Given the description of an element on the screen output the (x, y) to click on. 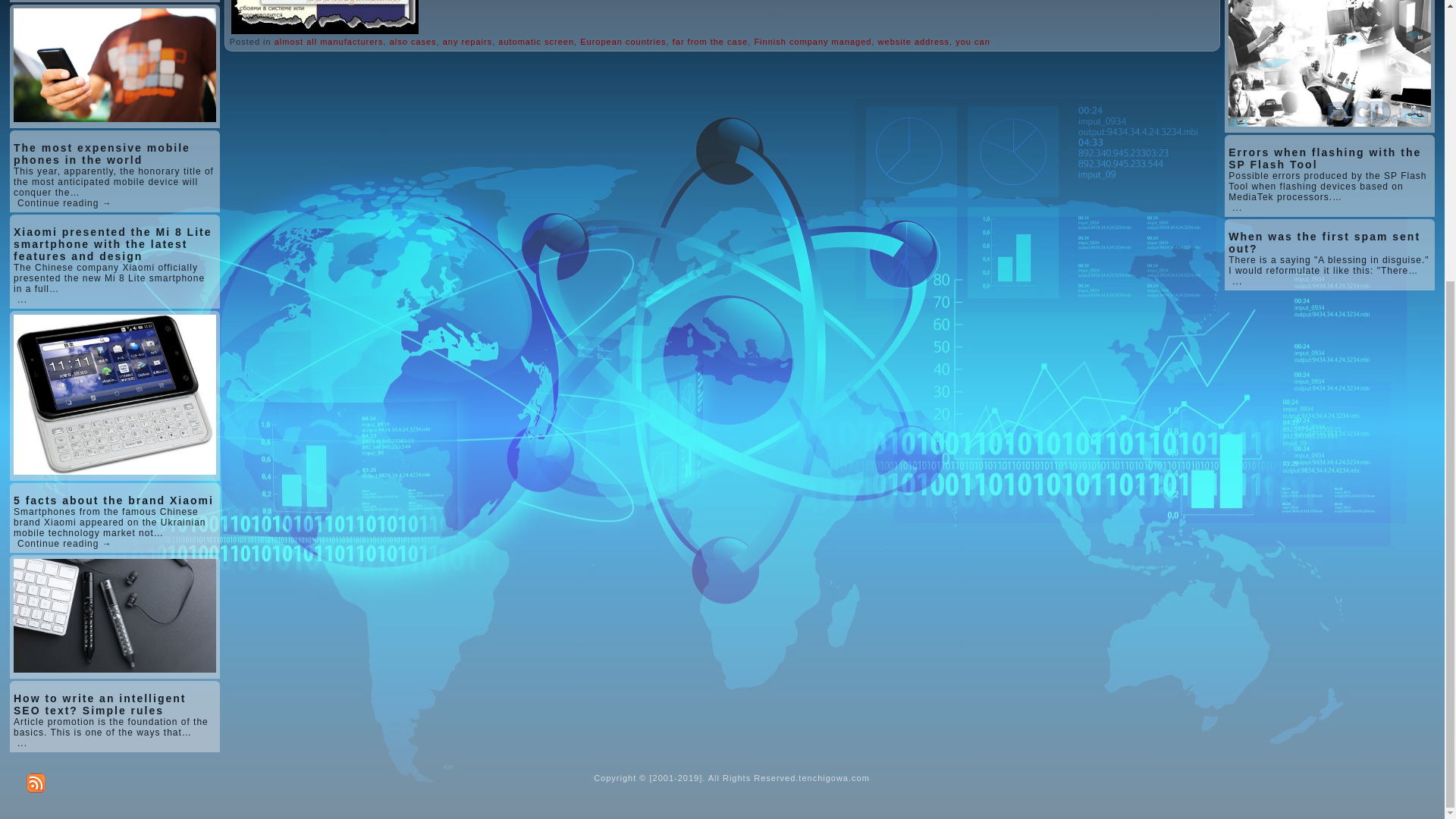
... (22, 742)
European countries (622, 40)
Finnish company managed (812, 40)
also cases (413, 40)
almost all manufacturers (329, 40)
website address (913, 40)
you can (972, 40)
... (22, 299)
automatic screen (535, 40)
far from the case (710, 40)
any repairs (467, 40)
